Given the description of an element on the screen output the (x, y) to click on. 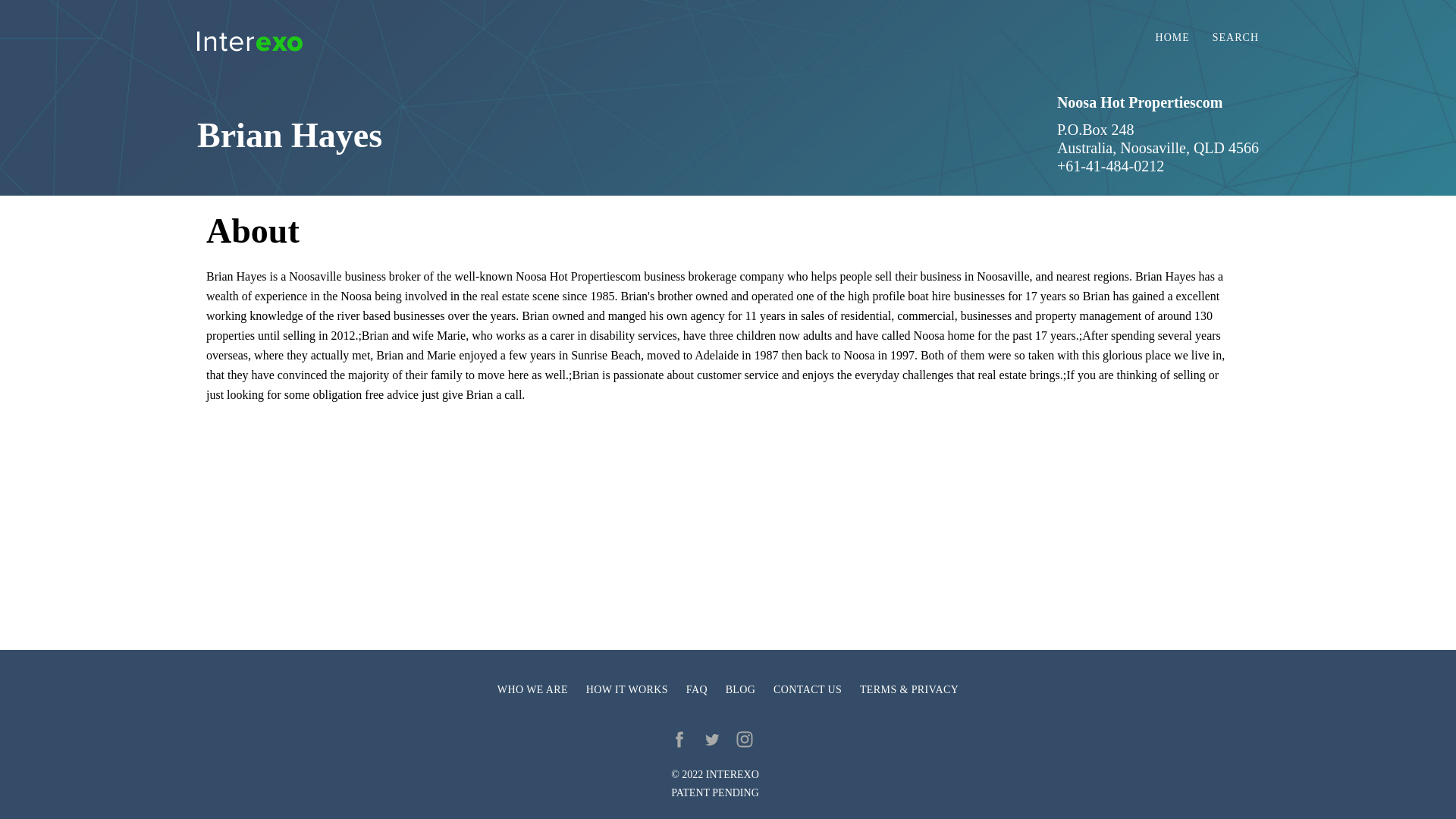
CONTACT US (807, 689)
Twitter (711, 739)
HOW IT WORKS (627, 689)
Noosa Hot Propertiescom (1140, 102)
FAQ (696, 689)
Instagram (744, 739)
SEARCH (1235, 37)
BLOG (740, 689)
HOME (1172, 37)
Facebook (679, 739)
WHO WE ARE (532, 689)
